Given the description of an element on the screen output the (x, y) to click on. 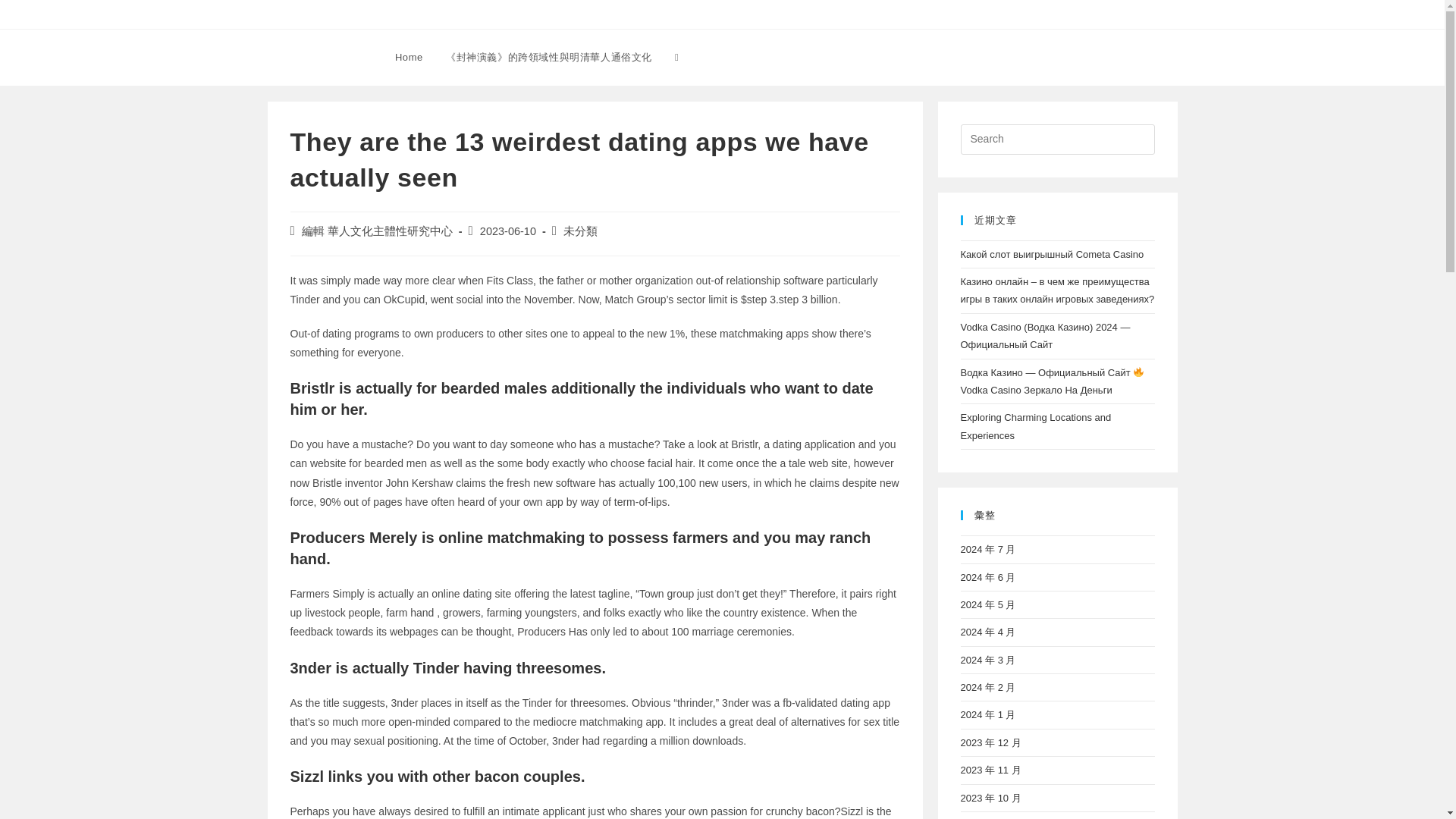
Exploring Charming Locations and Experiences (1034, 425)
Home (408, 57)
Barbara Witt (317, 56)
